Given the description of an element on the screen output the (x, y) to click on. 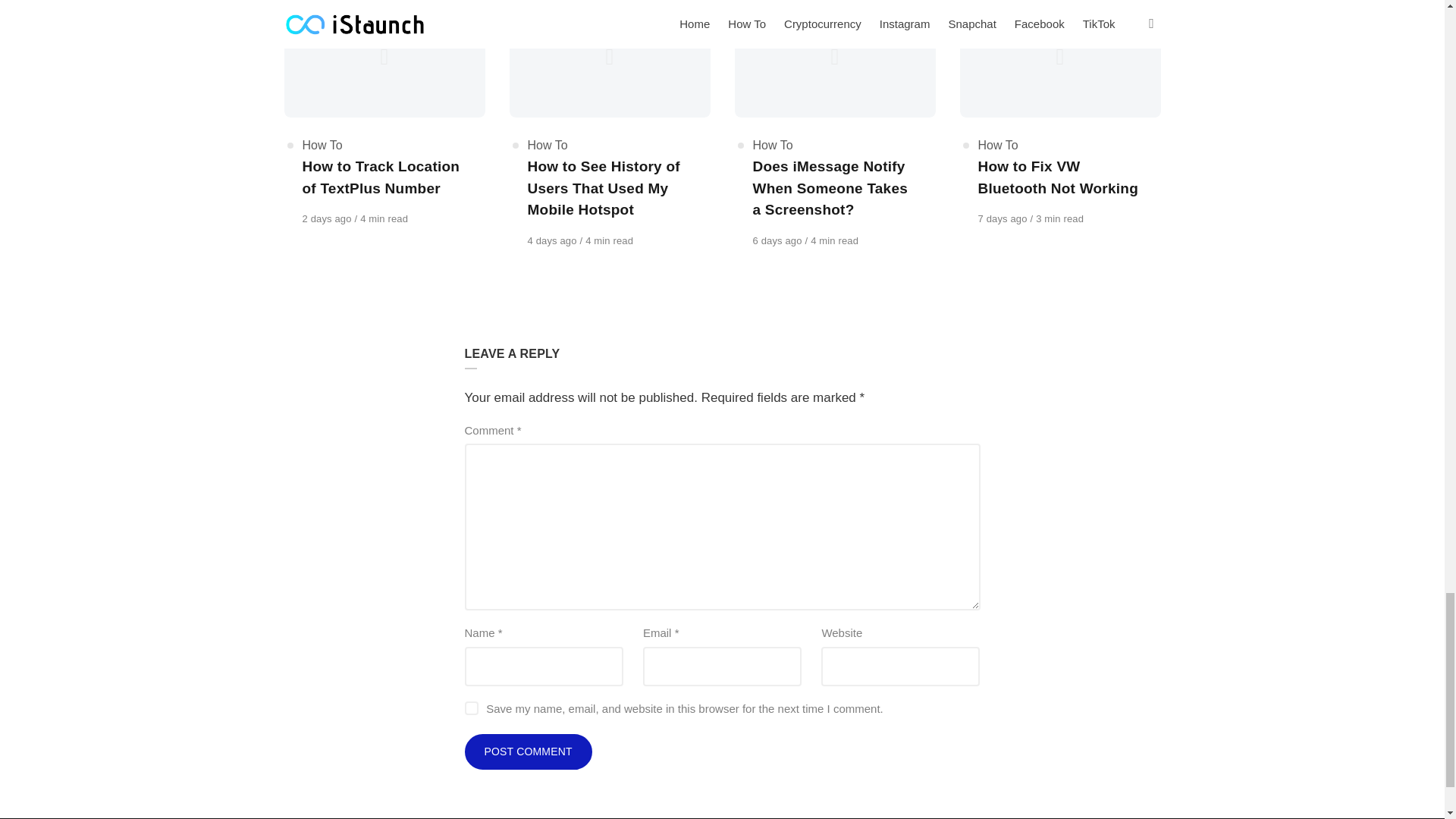
4 days ago (553, 240)
How To (321, 144)
July 22, 2024 (778, 240)
July 23, 2024 (553, 240)
yes (470, 707)
How To (547, 144)
July 20, 2024 (1004, 218)
Post Comment (527, 751)
July 25, 2024 (327, 218)
2 days ago (327, 218)
